Given the description of an element on the screen output the (x, y) to click on. 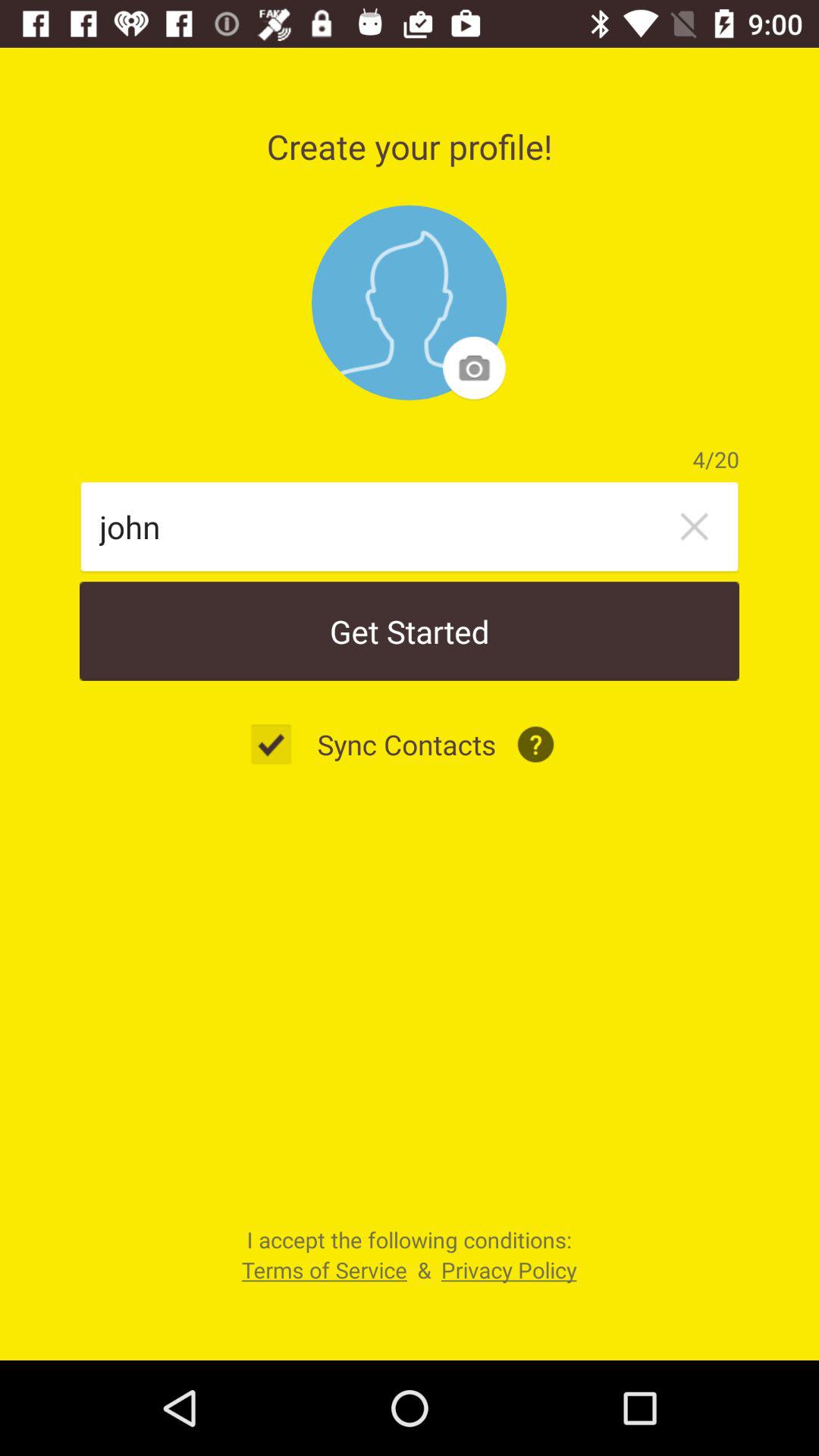
open item next to the sync contacts item (279, 744)
